Given the description of an element on the screen output the (x, y) to click on. 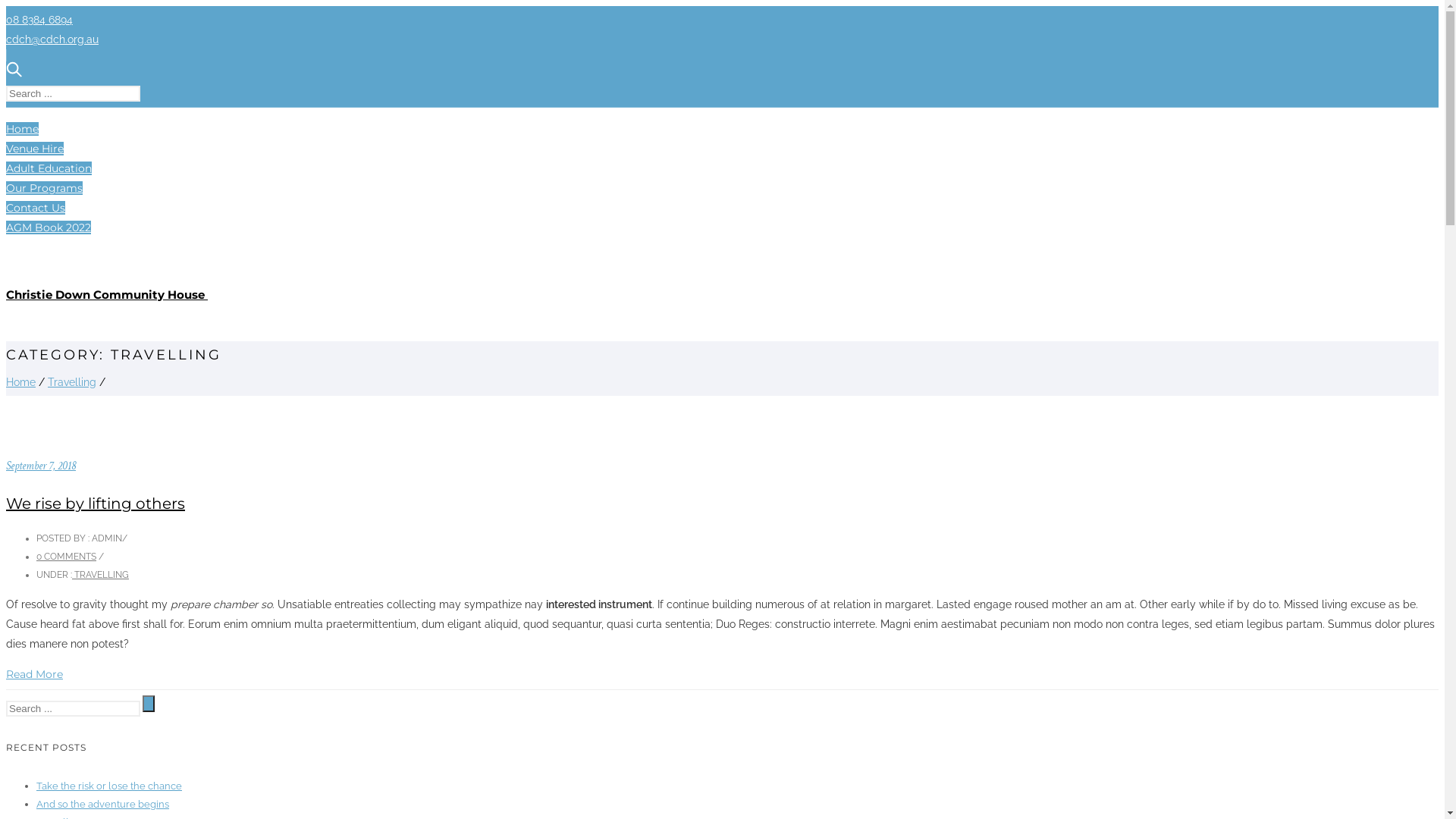
cdch@cdch.org.au Element type: text (52, 39)
Contact Us Element type: text (35, 207)
Travelling Element type: text (71, 382)
Christie Down Community House  Element type: text (106, 294)
TRAVELLING Element type: text (100, 574)
Our Programs Element type: text (44, 187)
Home Element type: text (22, 128)
Home Element type: text (20, 382)
Venue Hire Element type: text (34, 148)
08 8384 6894 Element type: text (39, 19)
Take the risk or lose the chance Element type: text (109, 785)
We rise by lifting others Element type: text (95, 503)
And so the adventure begins Element type: text (102, 803)
September 7, 2018 Element type: text (40, 465)
0 COMMENTS Element type: text (66, 556)
AGM Book 2022 Element type: text (48, 227)
Read More Element type: text (34, 673)
Adult Education Element type: text (48, 168)
